Given the description of an element on the screen output the (x, y) to click on. 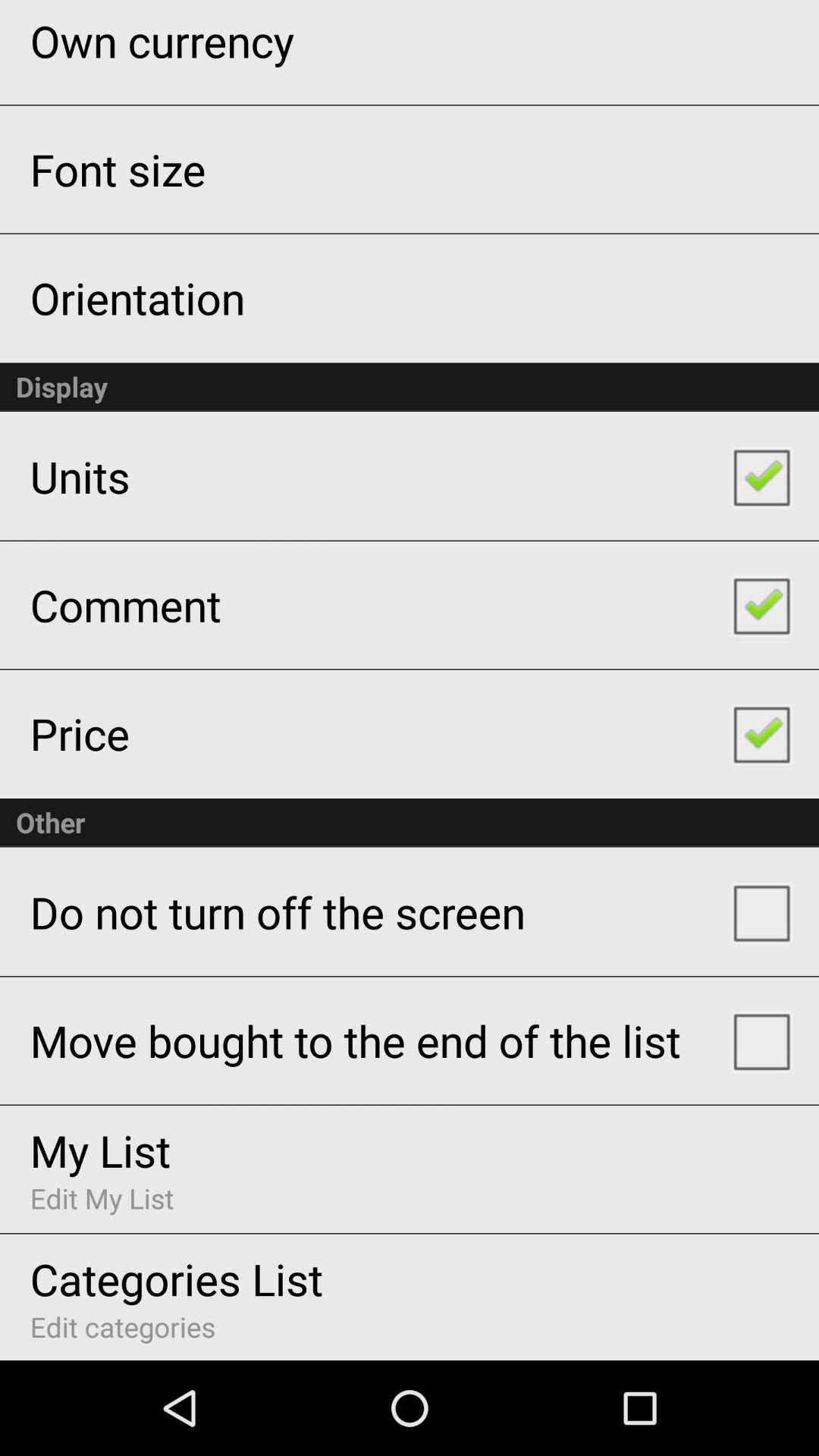
turn off orientation app (137, 297)
